Given the description of an element on the screen output the (x, y) to click on. 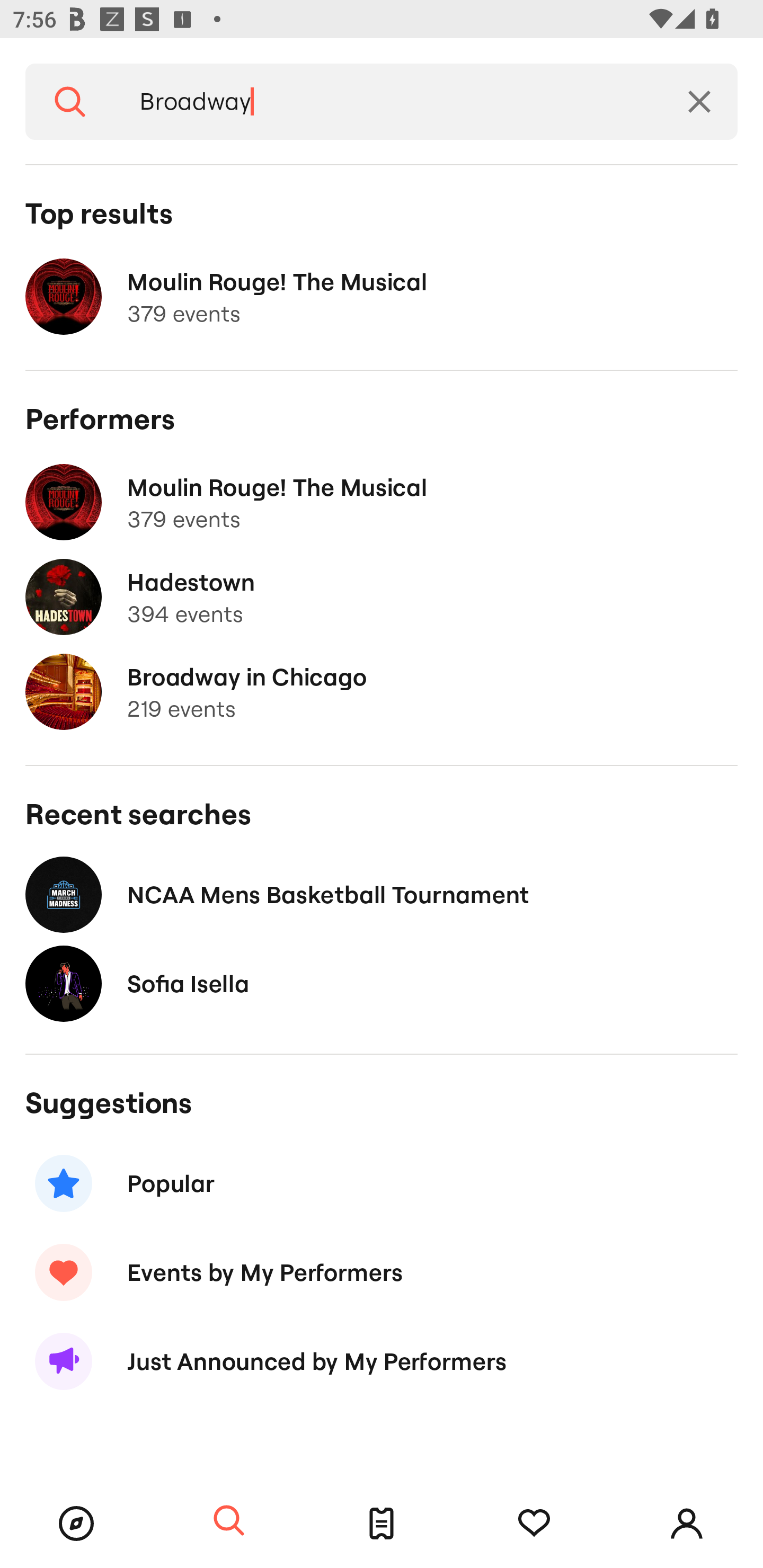
Search (69, 101)
Broadway (387, 101)
Clear (699, 101)
Moulin Rouge! The Musical 379 events (381, 296)
Moulin Rouge! The Musical 379 events (381, 502)
Hadestown 394 events (381, 597)
Broadway in Chicago 219 events (381, 692)
NCAA Mens Basketball Tournament (381, 894)
Sofia Isella (381, 983)
Popular (381, 1182)
Events by My Performers (381, 1272)
Just Announced by My Performers (381, 1361)
Browse (76, 1523)
Search (228, 1521)
Tickets (381, 1523)
Tracking (533, 1523)
Account (686, 1523)
